Given the description of an element on the screen output the (x, y) to click on. 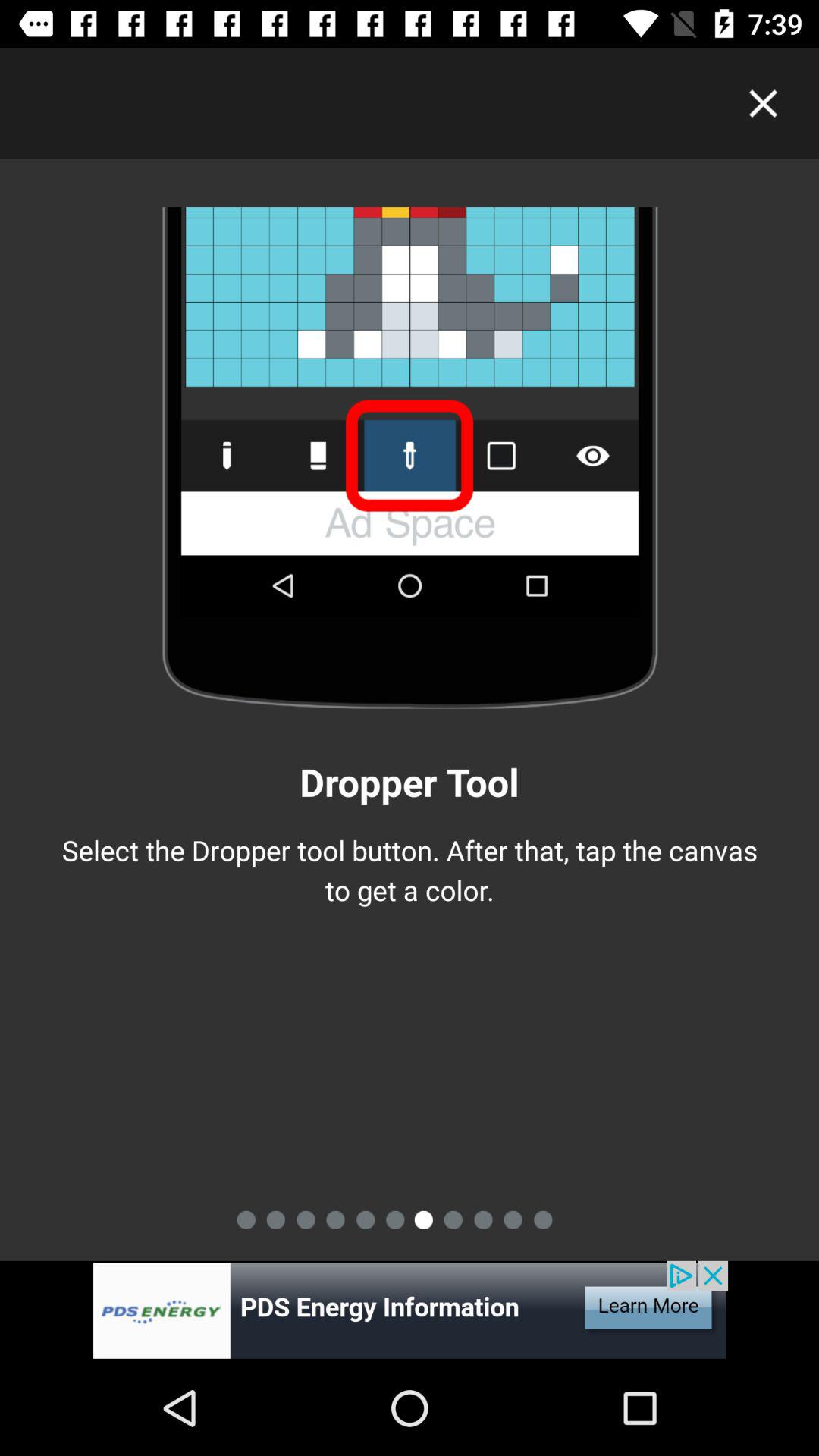
close the instructions (763, 103)
